Given the description of an element on the screen output the (x, y) to click on. 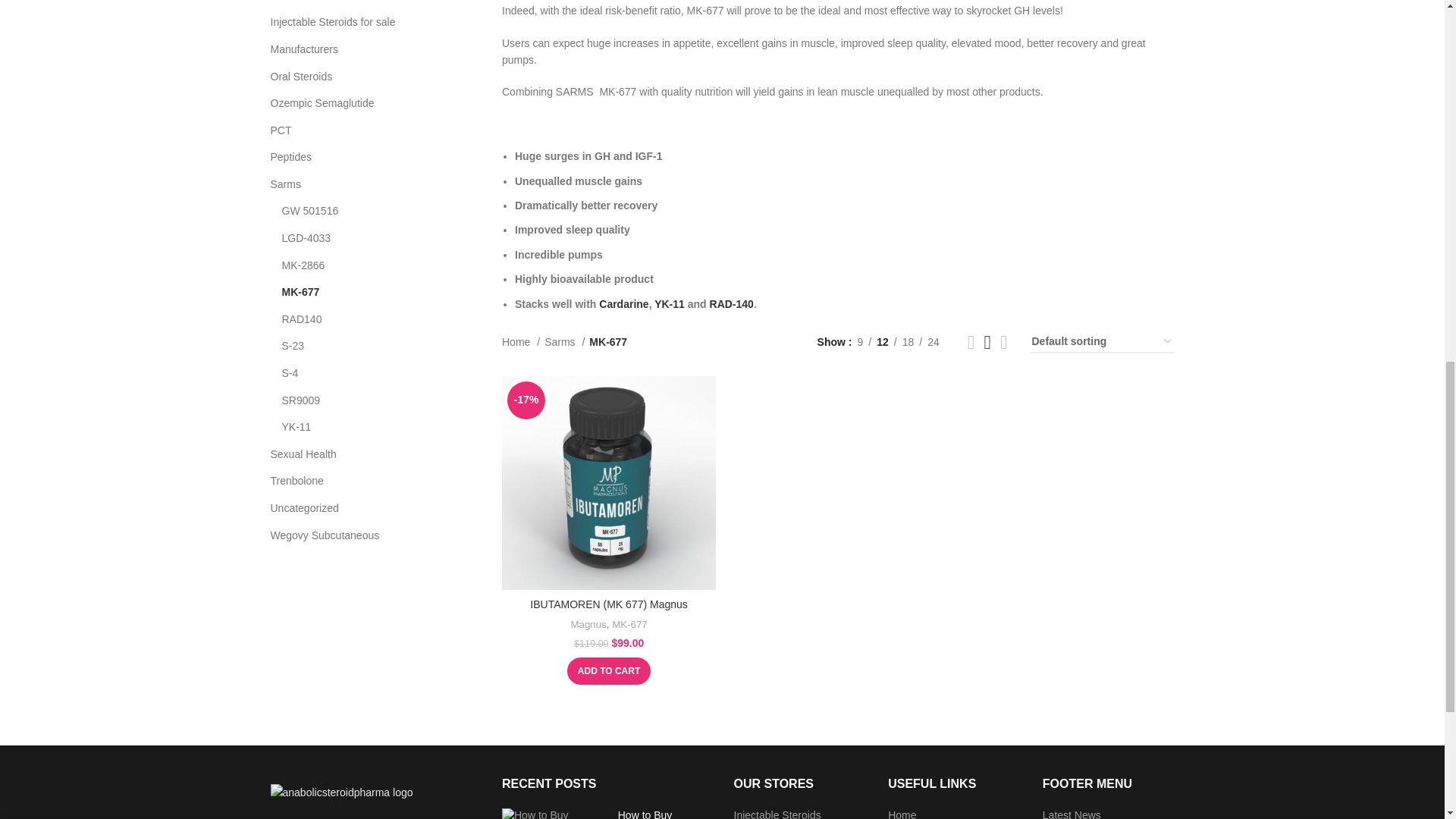
How to Buy Steroids Online in the UK (554, 813)
Permalink to How to Buy Steroids Online in the UK (659, 814)
anabolicsteroidpharma (340, 791)
